Given the description of an element on the screen output the (x, y) to click on. 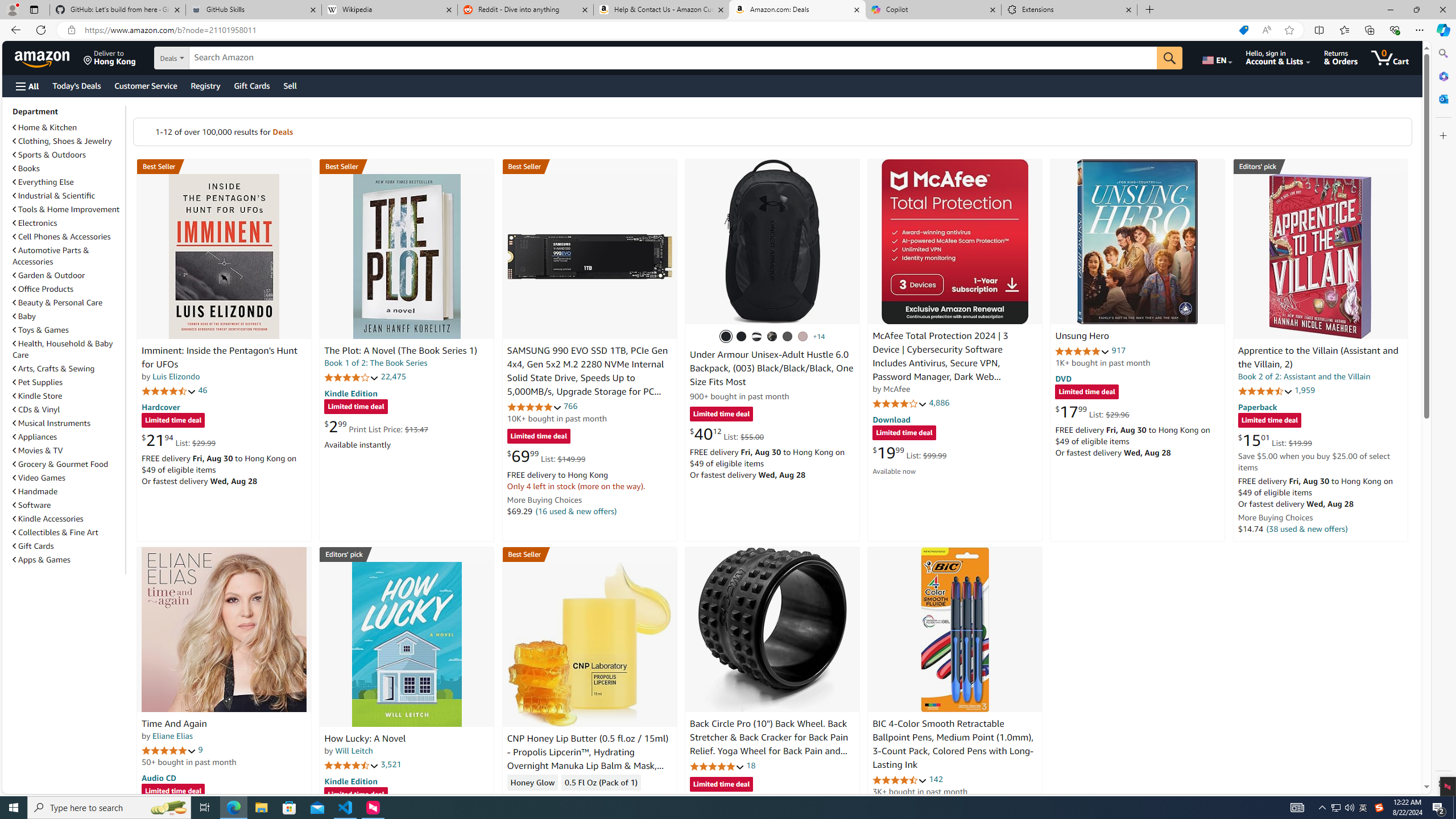
(38 used & new offers) (1307, 528)
(002) Black / Black / White (756, 336)
Today's Deals (76, 85)
DVD (1063, 378)
Home & Kitchen (67, 127)
Pet Supplies (37, 381)
Appliances (34, 436)
Beauty & Personal Care (67, 301)
Luis Elizondo (175, 376)
18 (750, 764)
46 (203, 390)
